Given the description of an element on the screen output the (x, y) to click on. 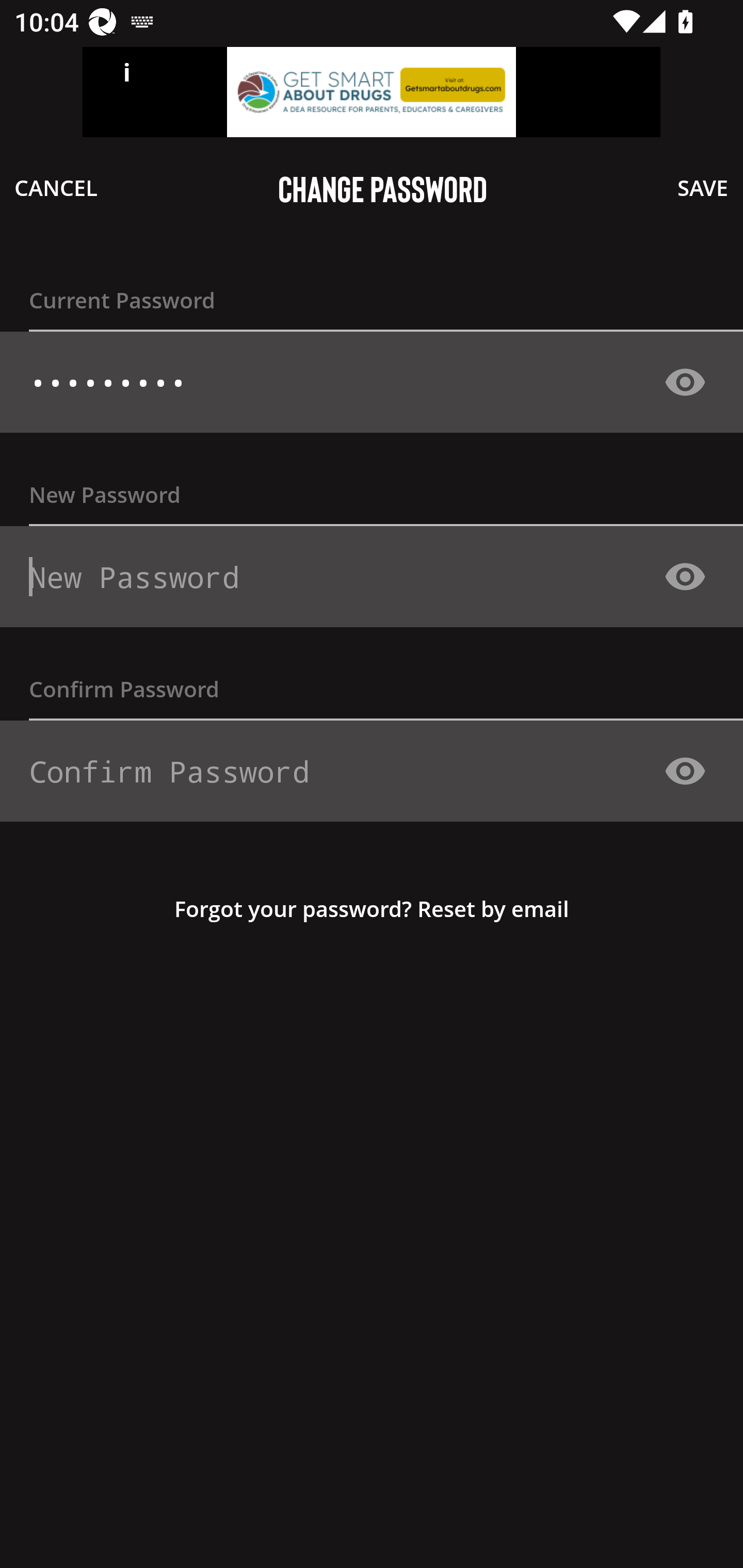
CANCEL (55, 186)
SAVE (702, 186)
Classical (364, 382)
Show password (684, 381)
New Password (364, 576)
Show password (684, 576)
Confirm Password (364, 771)
Show password (684, 770)
Forgot your password? Reset by email (371, 908)
